Given the description of an element on the screen output the (x, y) to click on. 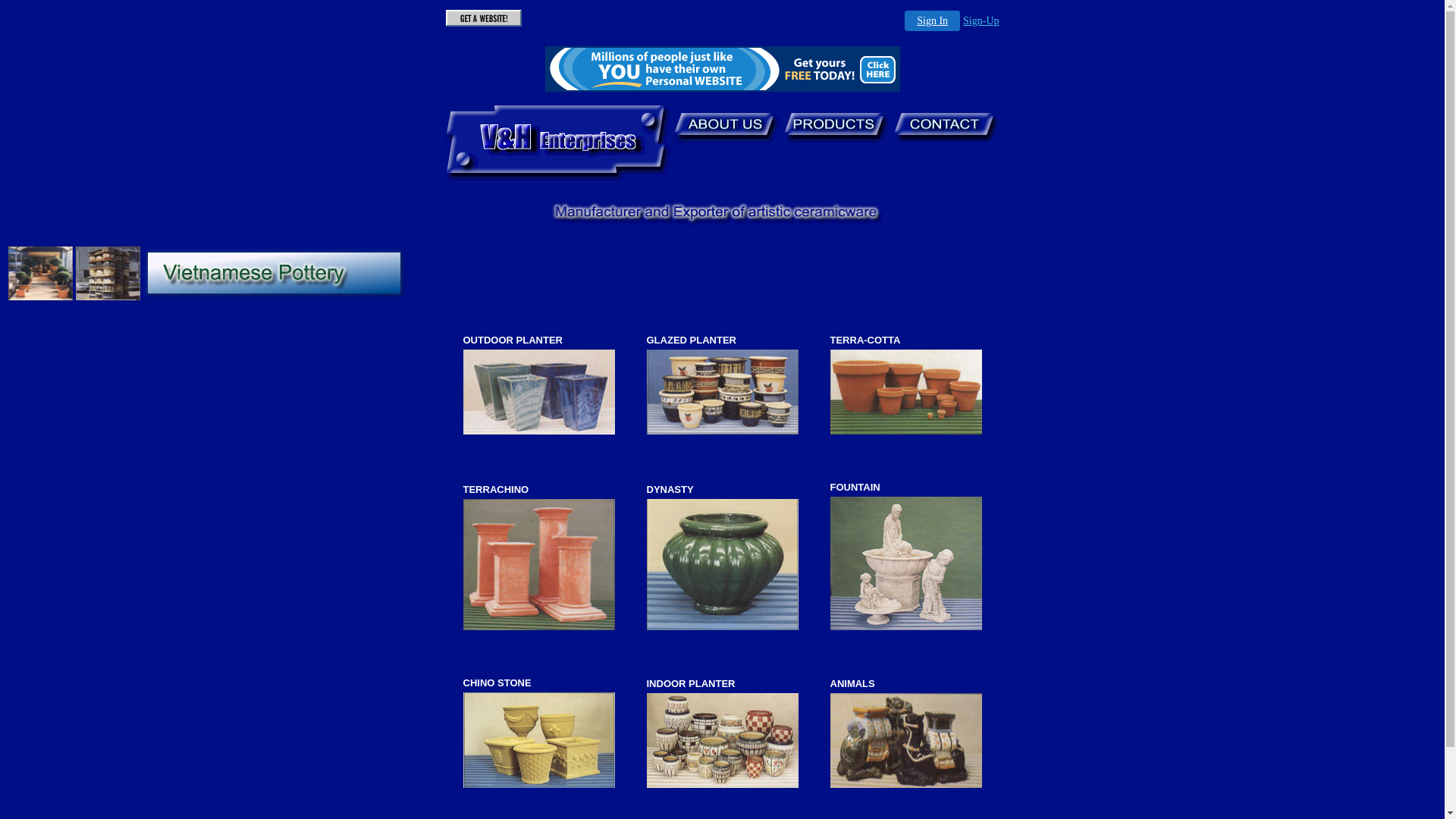
Sign In Element type: text (932, 20)
Sign-Up Element type: text (980, 20)
